Given the description of an element on the screen output the (x, y) to click on. 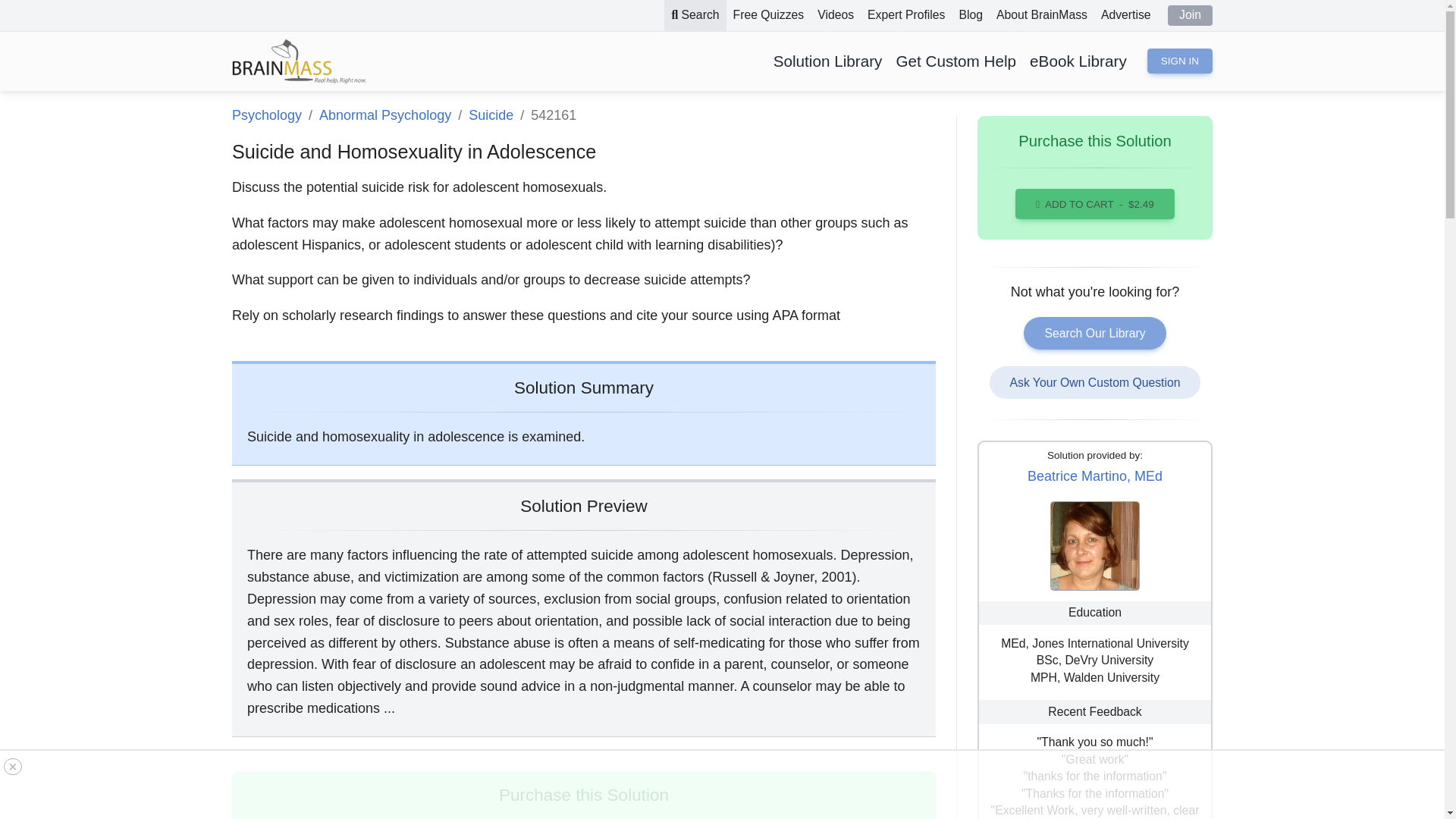
Search (694, 15)
Free Quizzes (768, 15)
Suicide (490, 114)
Get Custom Help (955, 60)
About BrainMass (1042, 15)
Blog (971, 15)
eBook Library (1078, 60)
Advertise (1125, 15)
SIGN IN (1179, 60)
Solution Library (828, 60)
Psychology (266, 114)
Videos (835, 15)
Join (1189, 14)
Abnormal Psychology (384, 114)
